Given the description of an element on the screen output the (x, y) to click on. 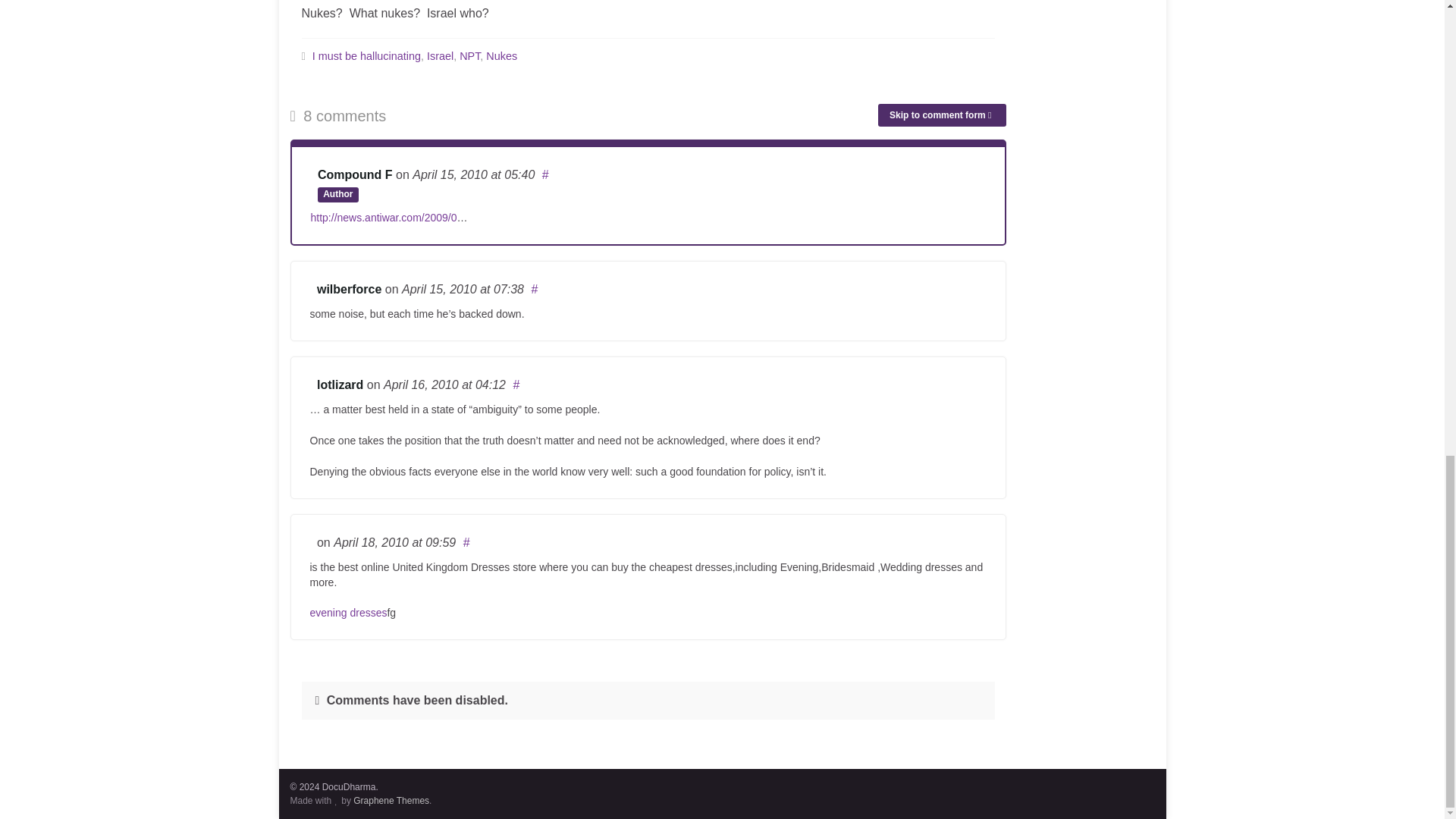
Graphene Themes (391, 800)
Compound F (355, 174)
lotlizard (339, 384)
Israel (439, 55)
I must be hallucinating (366, 55)
Skip to comment form (941, 115)
Nukes (501, 55)
wilberforce (349, 288)
evening dresses (347, 612)
NPT (470, 55)
